Given the description of an element on the screen output the (x, y) to click on. 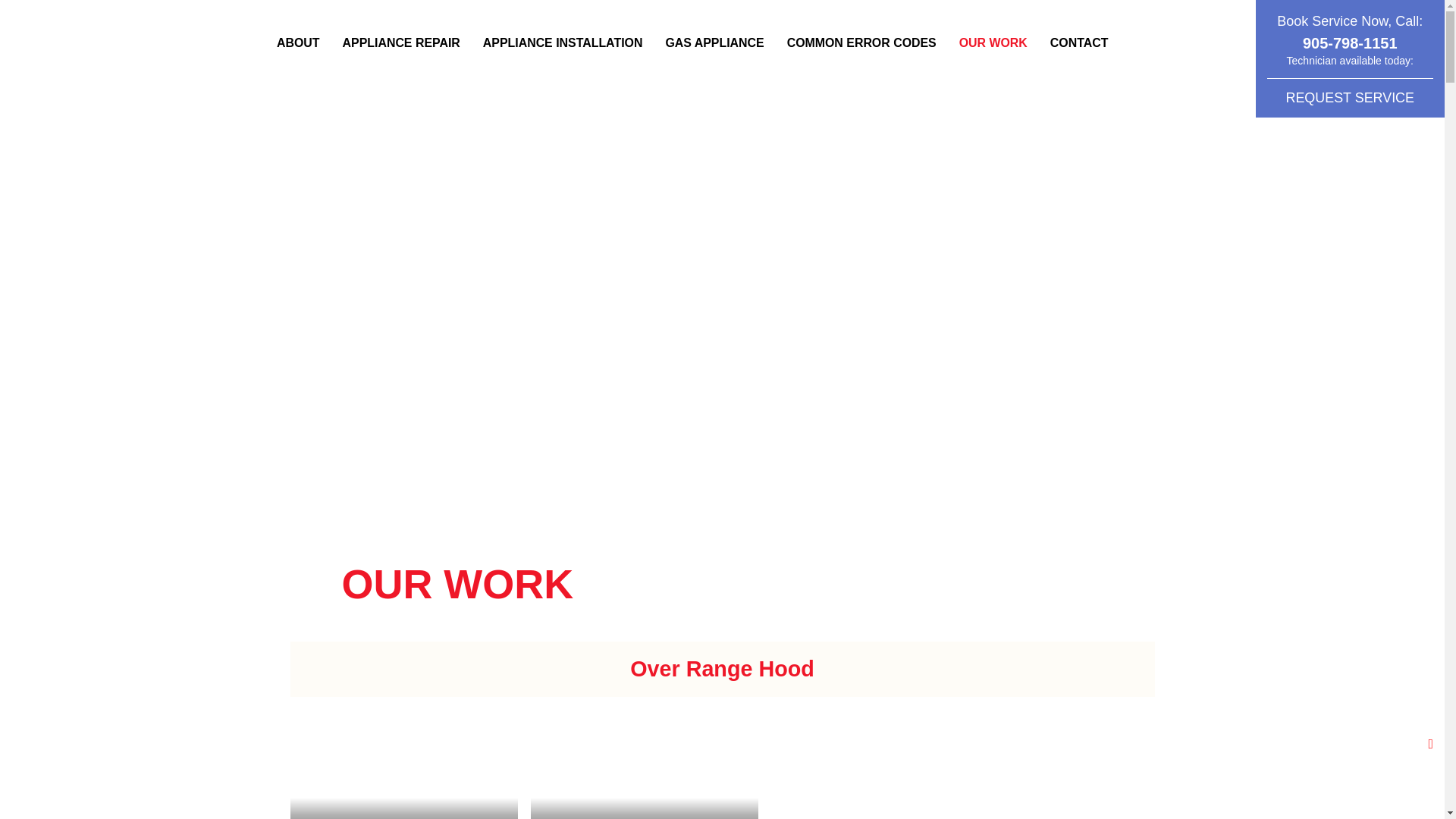
GAS APPLIANCE Element type: text (714, 42)
Go to top Element type: hover (1430, 744)
OUR WORK Element type: text (993, 42)
REQUEST SERVICE Element type: text (1349, 97)
ABOUT Element type: text (298, 42)
CONTACT Element type: text (1079, 42)
COMMON ERROR CODES Element type: text (861, 42)
APPLIANCE REPAIR Element type: text (401, 42)
905-798-1151 Element type: text (1349, 42)
APPLIANCE INSTALLATION Element type: text (563, 42)
